Given the description of an element on the screen output the (x, y) to click on. 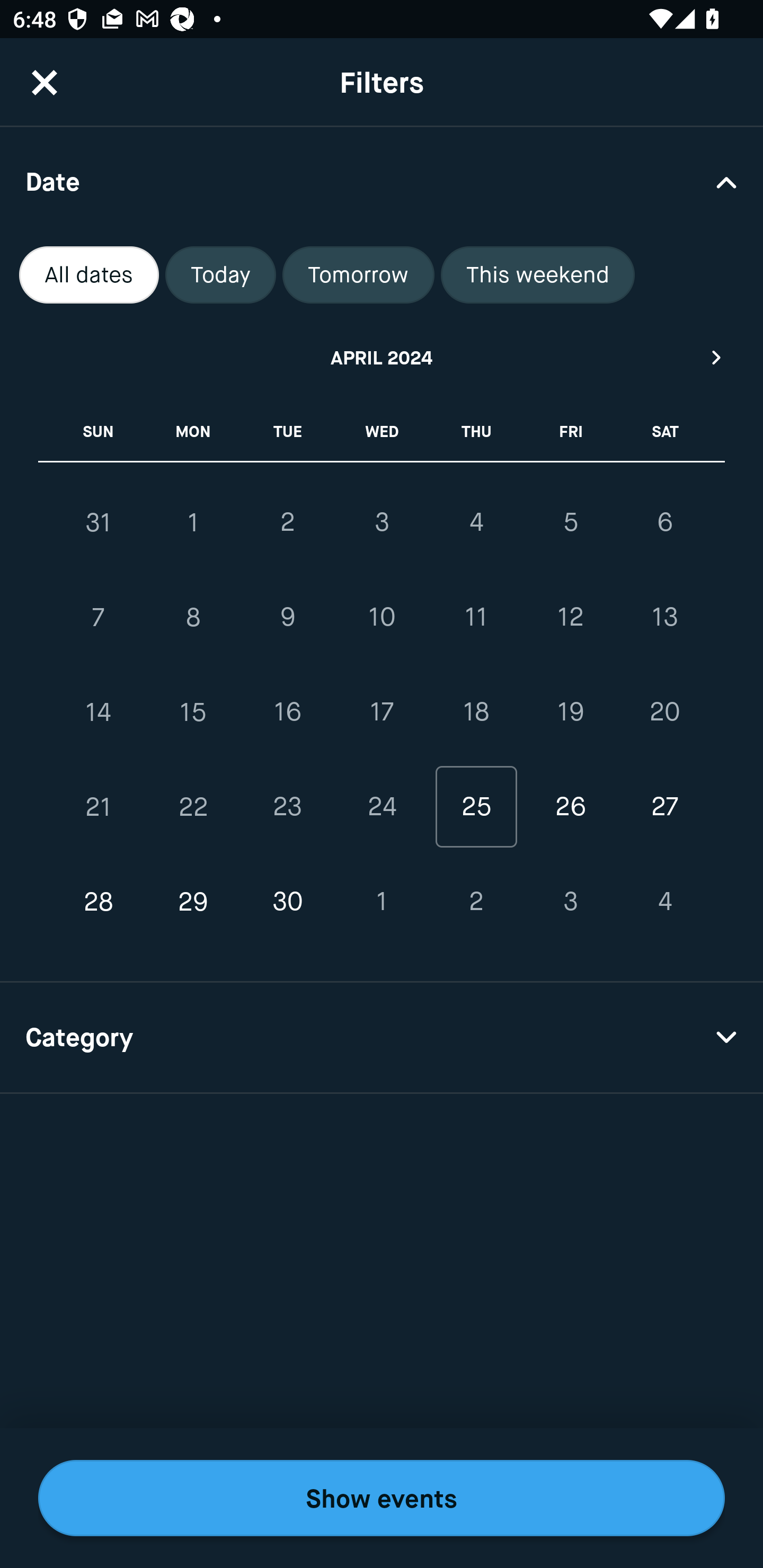
CloseButton (44, 82)
Date Drop Down Arrow (381, 181)
All dates (88, 274)
Today (220, 274)
Tomorrow (358, 274)
This weekend (537, 274)
Next (717, 357)
31 (98, 522)
1 (192, 522)
2 (287, 522)
3 (381, 522)
4 (475, 522)
5 (570, 522)
6 (664, 522)
7 (98, 617)
8 (192, 617)
9 (287, 617)
10 (381, 617)
11 (475, 617)
12 (570, 617)
13 (664, 617)
14 (98, 711)
15 (192, 711)
16 (287, 711)
17 (381, 711)
18 (475, 711)
19 (570, 711)
20 (664, 711)
21 (98, 806)
22 (192, 806)
23 (287, 806)
24 (381, 806)
25 (475, 806)
26 (570, 806)
27 (664, 806)
28 (98, 901)
29 (192, 901)
30 (287, 901)
1 (381, 901)
2 (475, 901)
3 (570, 901)
4 (664, 901)
Category Drop Down Arrow (381, 1038)
Show events (381, 1497)
